Given the description of an element on the screen output the (x, y) to click on. 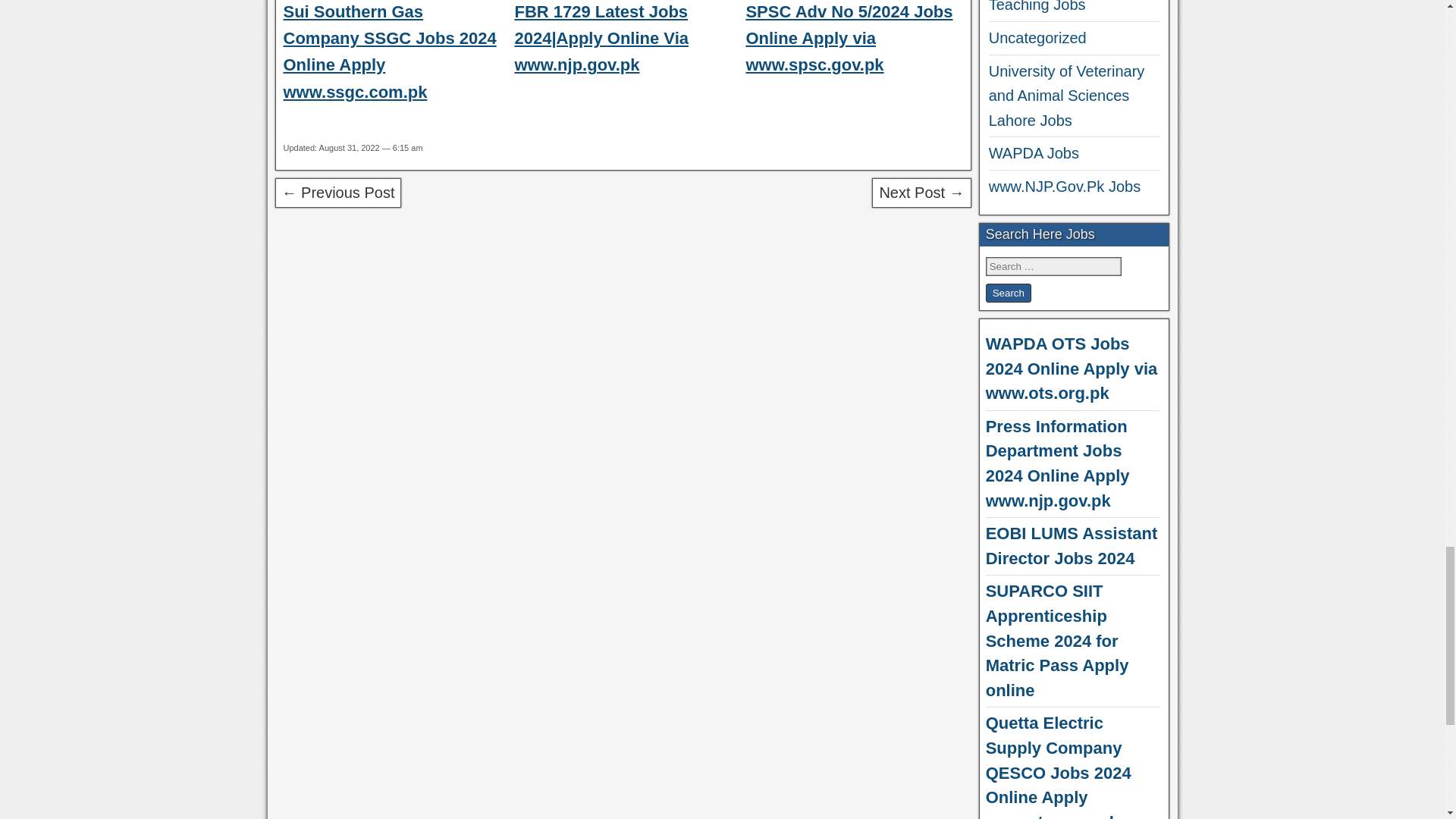
Search (1007, 292)
Search (1007, 292)
